Given the description of an element on the screen output the (x, y) to click on. 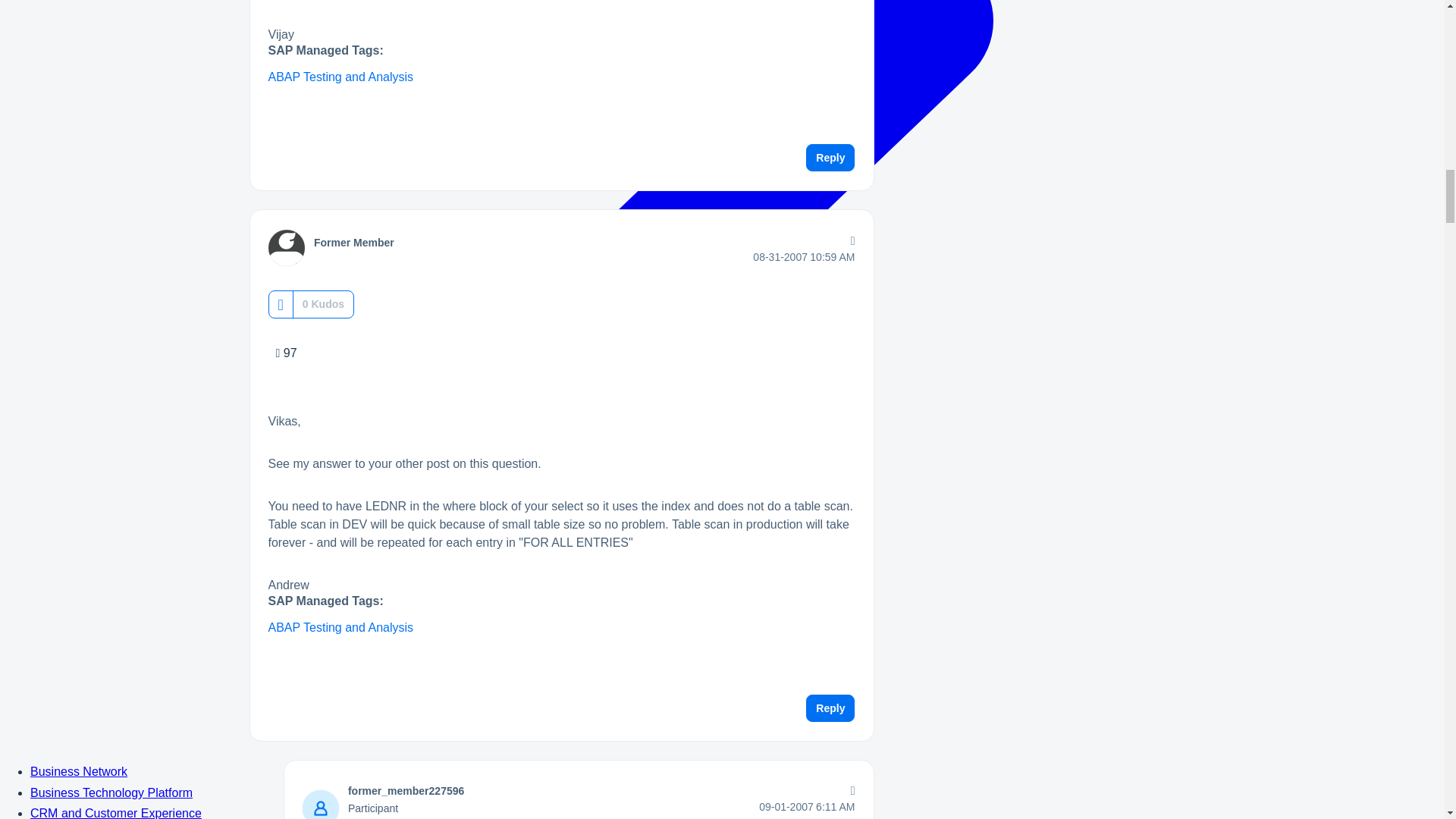
ABAP Testing and Analysis (340, 76)
Reply (830, 157)
